Given the description of an element on the screen output the (x, y) to click on. 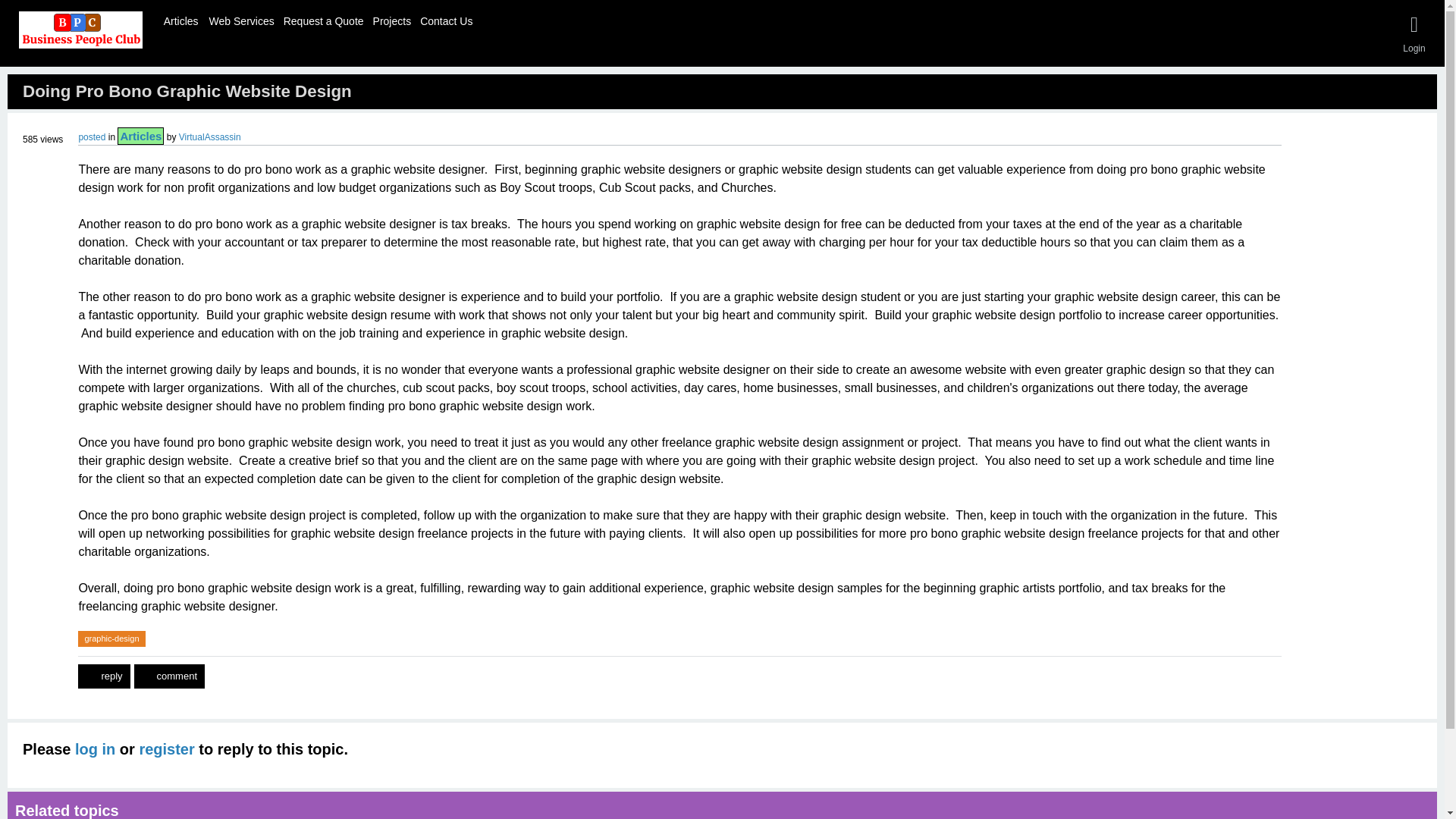
register (165, 749)
posted (91, 136)
VirtualAssassin (210, 136)
graphic-design (111, 638)
comment (169, 676)
Add a comment on this topic (169, 676)
Projects (391, 19)
reply to this topic (103, 676)
Web Services (241, 19)
Contact Us (446, 19)
Articles (140, 135)
Doing Pro Bono Graphic Website Design (187, 90)
reply (103, 676)
reply (103, 676)
Business People Club - Business Tools and Services (80, 29)
